Given the description of an element on the screen output the (x, y) to click on. 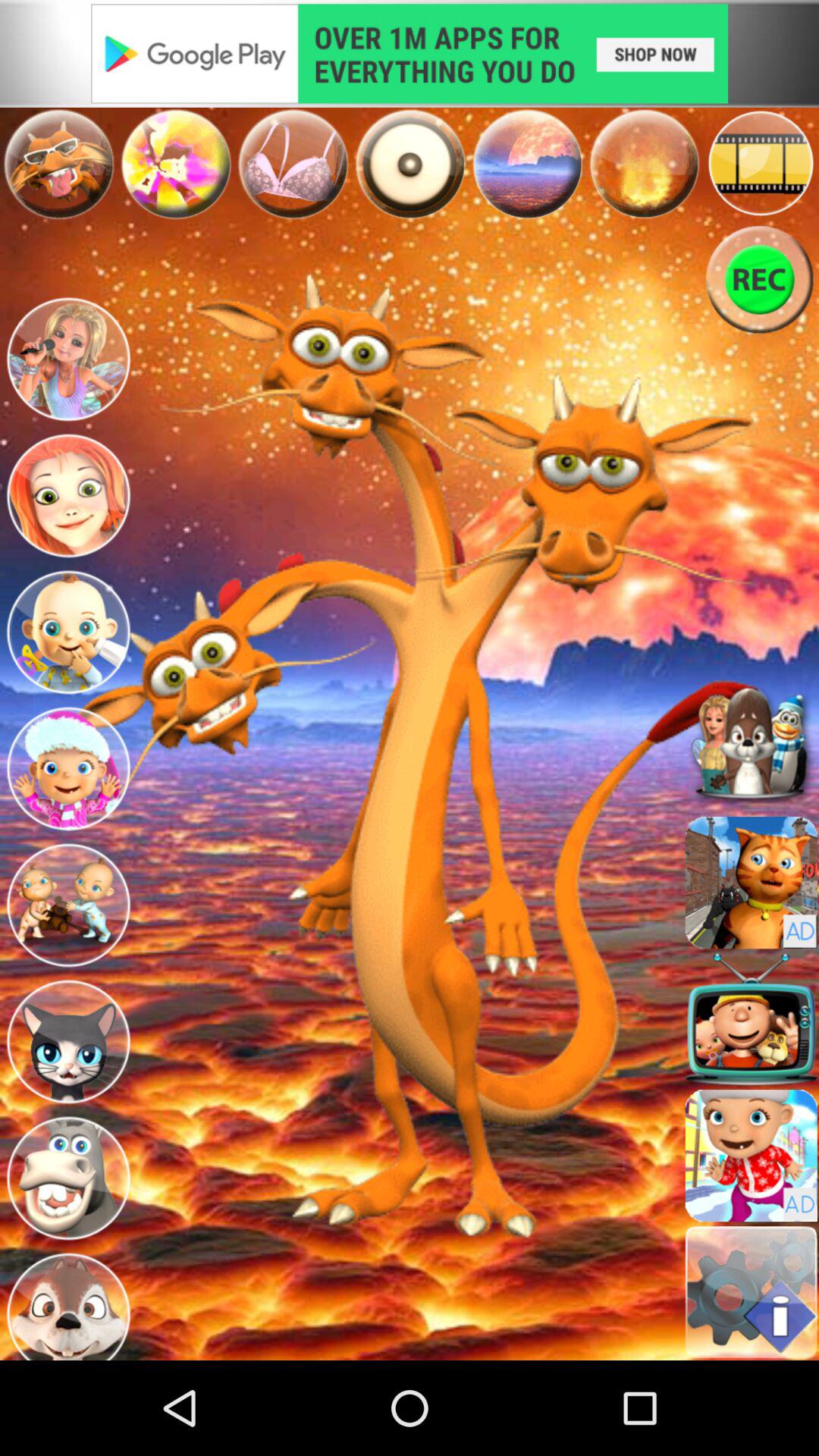
advertisement (751, 882)
